Given the description of an element on the screen output the (x, y) to click on. 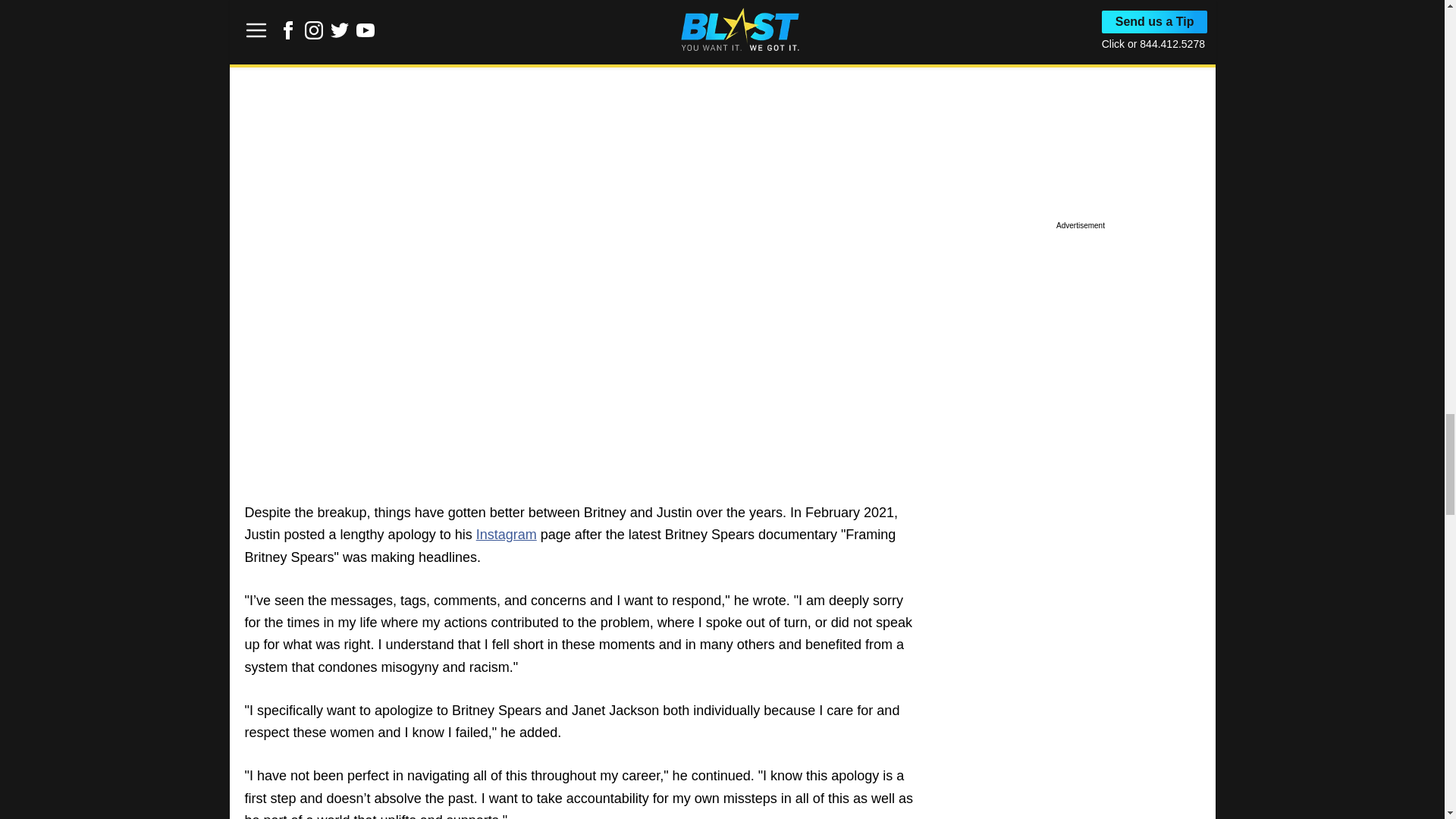
Instagram (506, 534)
